Given the description of an element on the screen output the (x, y) to click on. 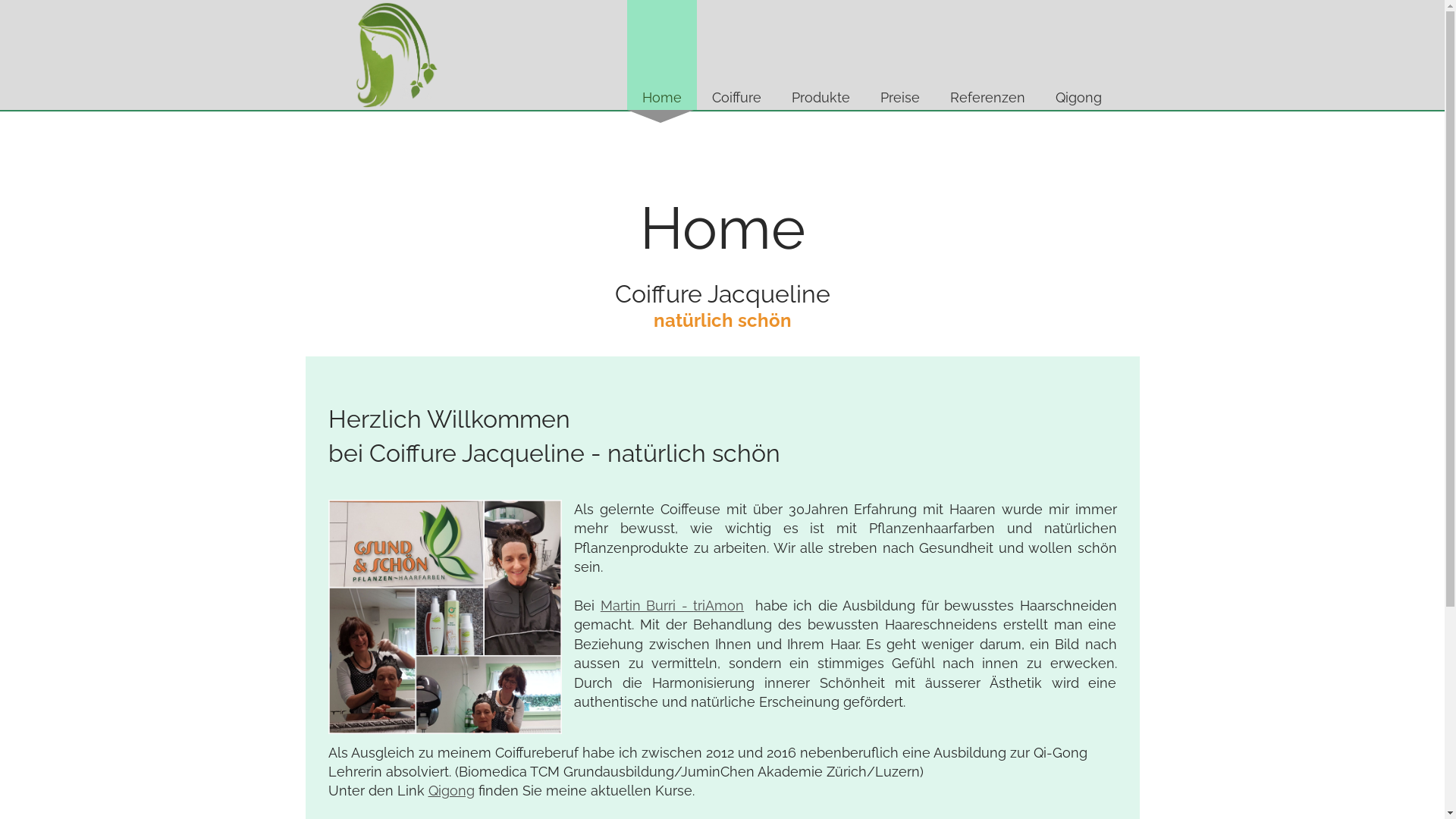
Produkte Element type: text (820, 54)
Referenzen Element type: text (986, 54)
Qigong Element type: text (1078, 54)
triAmon Element type: text (718, 605)
Martin Burri - Element type: text (646, 605)
Home Element type: text (661, 54)
Coiffure Element type: text (735, 54)
Qigong Element type: text (450, 790)
Preise Element type: text (899, 54)
